Given the description of an element on the screen output the (x, y) to click on. 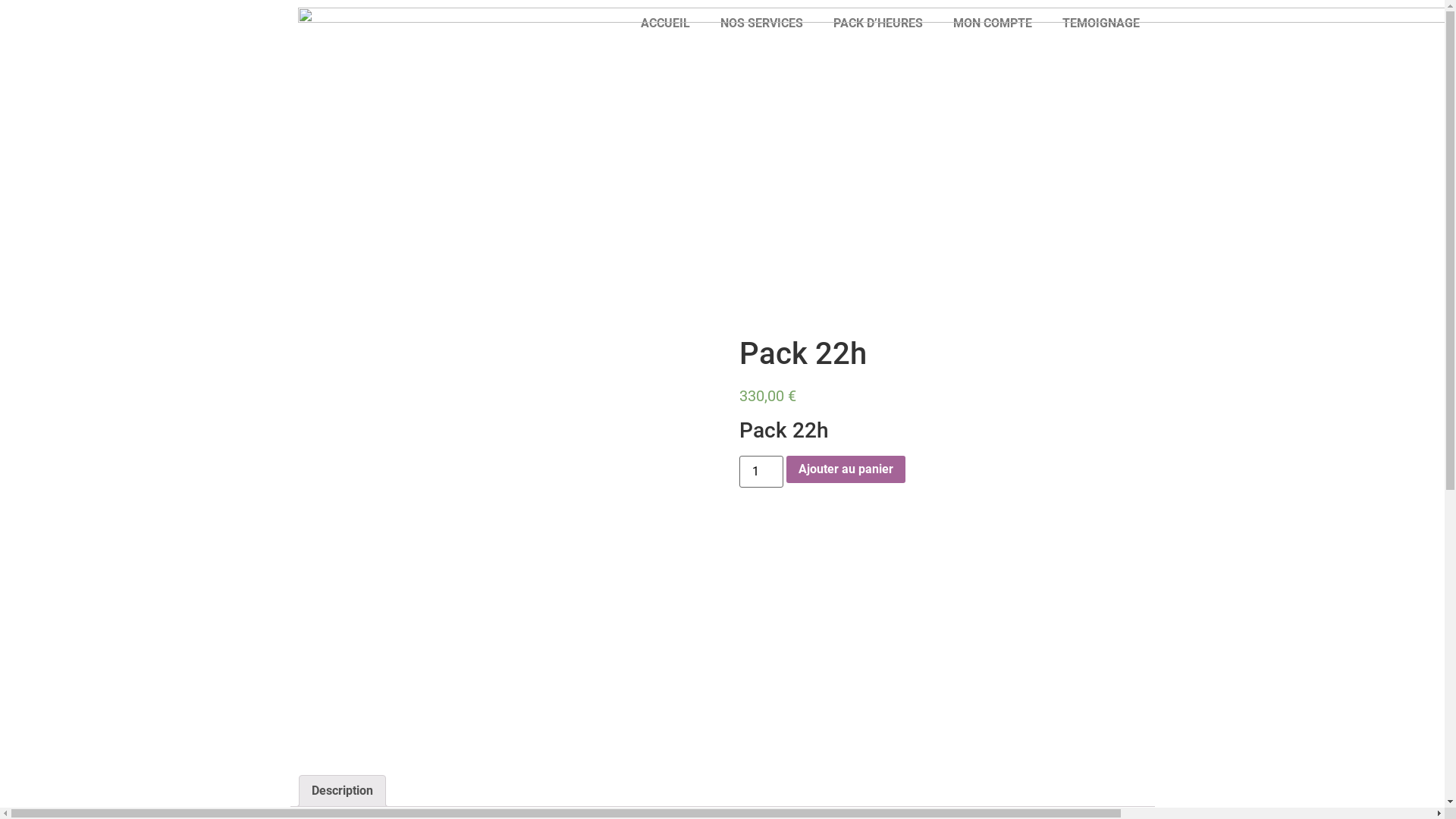
Description Element type: text (341, 790)
MON COMPTE Element type: text (991, 23)
Ajouter au panier Element type: text (845, 469)
NOS SERVICES Element type: text (761, 23)
ACCUEIL Element type: text (664, 23)
TEMOIGNAGE Element type: text (1100, 23)
